Given the description of an element on the screen output the (x, y) to click on. 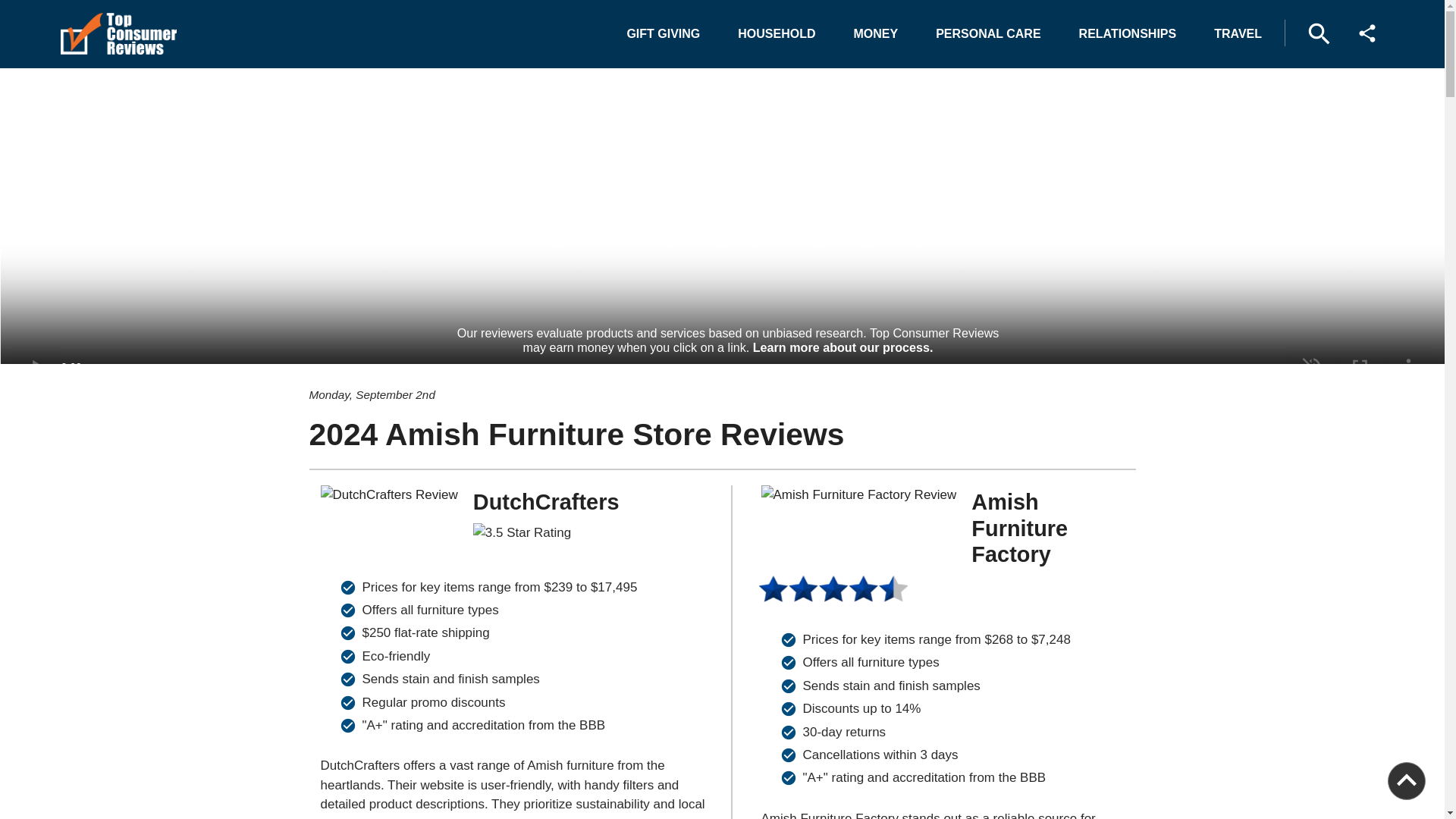
MONEY (876, 33)
HOUSEHOLD (775, 33)
Search Top Consumer Reviews (1318, 33)
TRAVEL (1237, 33)
RELATIONSHIPS (1128, 33)
Share Top Consumer Reviews (1367, 32)
PERSONAL CARE (987, 33)
GIFT GIVING (662, 33)
